Given the description of an element on the screen output the (x, y) to click on. 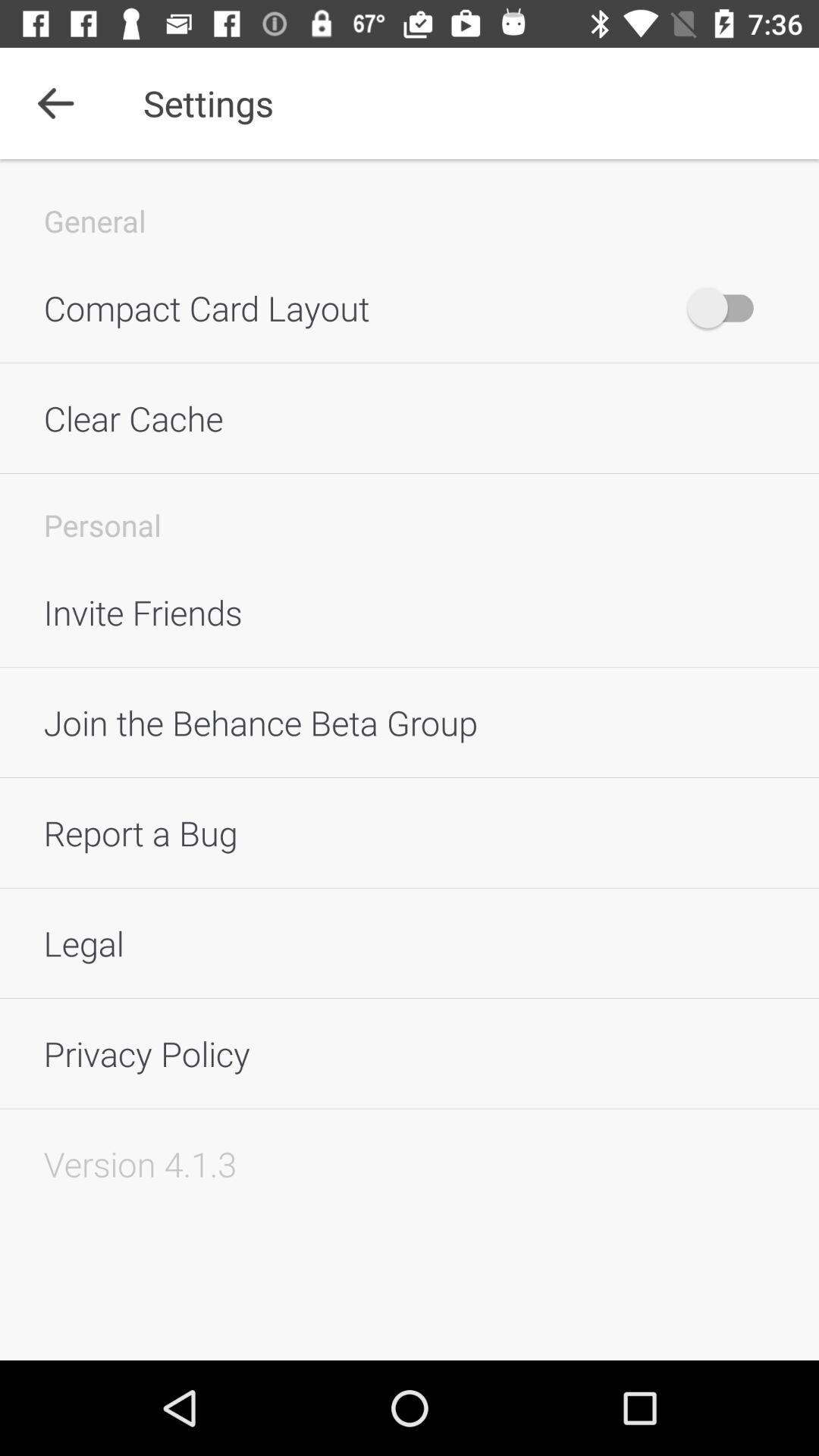
select the icon above general item (55, 103)
